Given the description of an element on the screen output the (x, y) to click on. 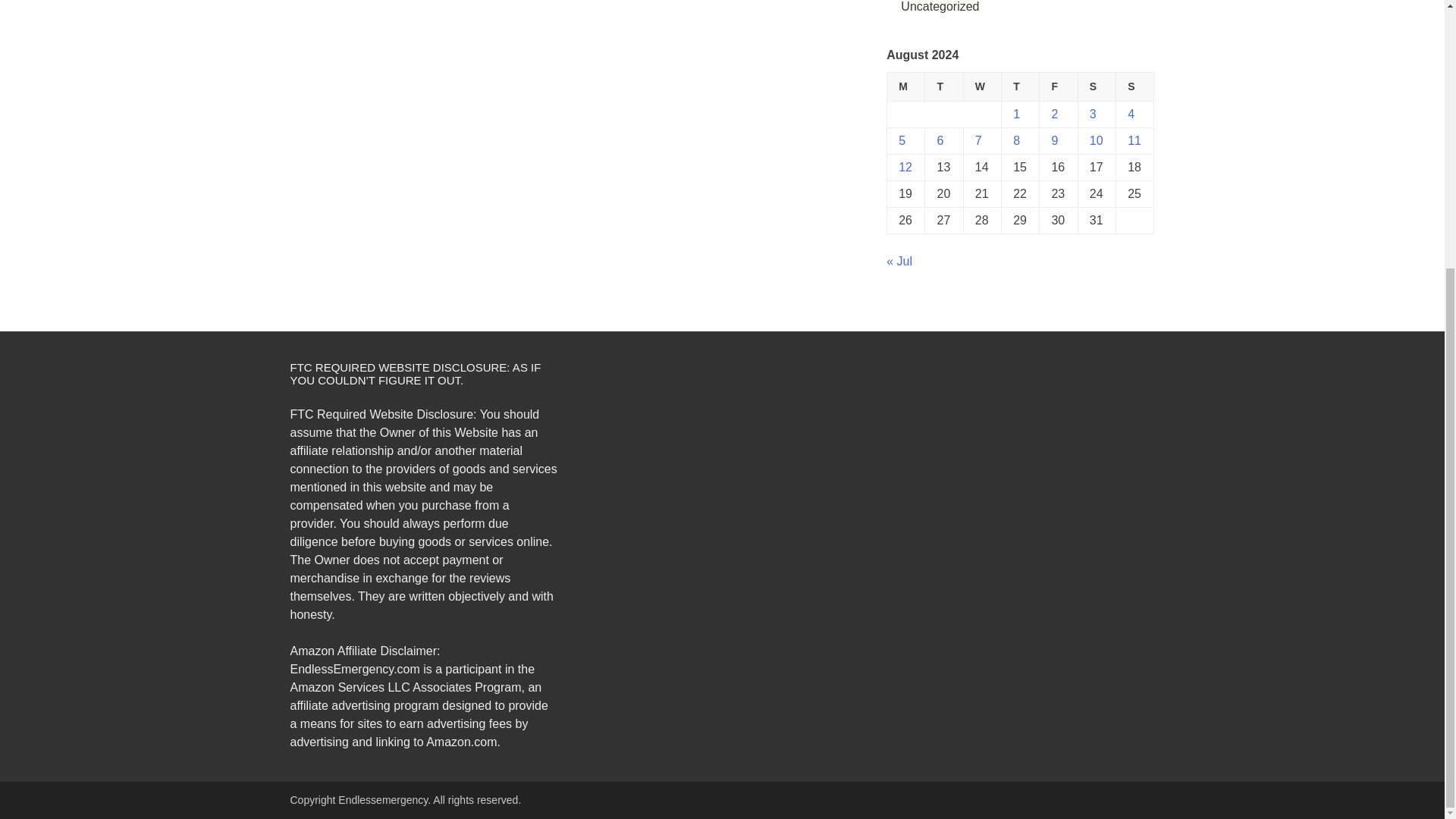
Sunday (1135, 86)
Friday (1058, 86)
Wednesday (981, 86)
Saturday (1096, 86)
Monday (905, 86)
Uncategorized (939, 6)
Thursday (1020, 86)
Tuesday (943, 86)
